Given the description of an element on the screen output the (x, y) to click on. 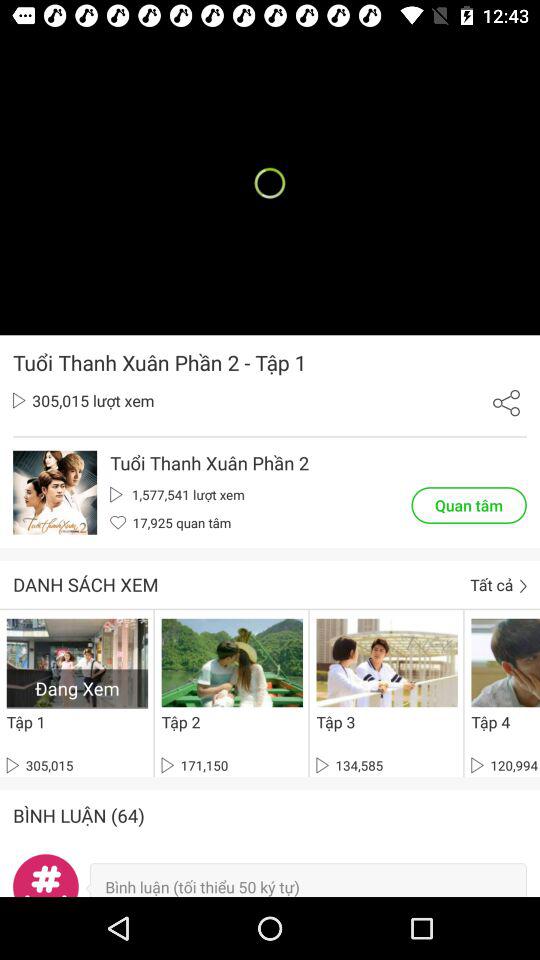
swipe until 120,994 icon (504, 765)
